Given the description of an element on the screen output the (x, y) to click on. 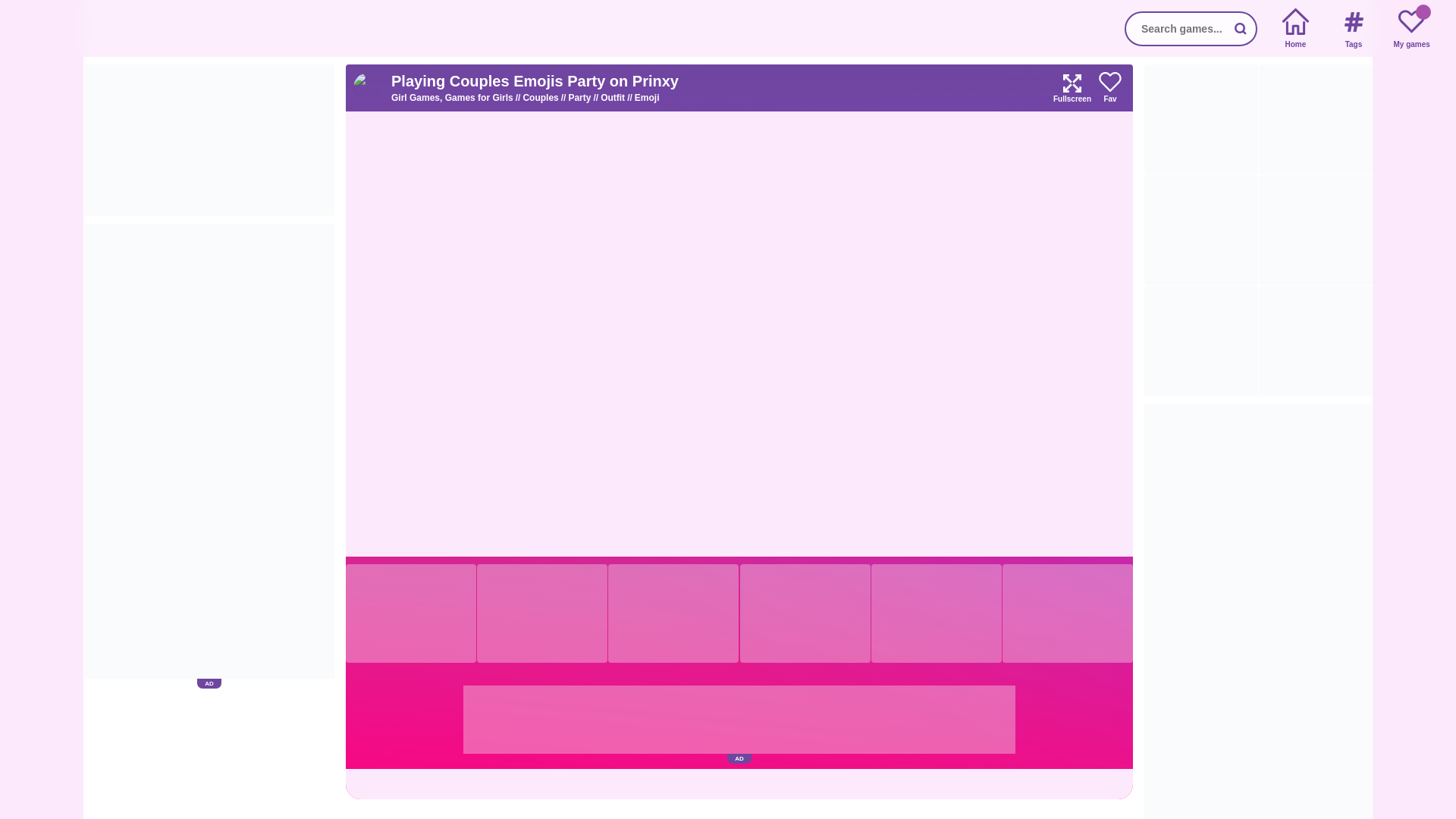
Home (1295, 28)
Emoji (646, 97)
Couples (544, 97)
Tags (1352, 28)
Girl Games, Games for Girls (456, 97)
My games (1411, 28)
Party (583, 97)
Outfit (616, 97)
